Given the description of an element on the screen output the (x, y) to click on. 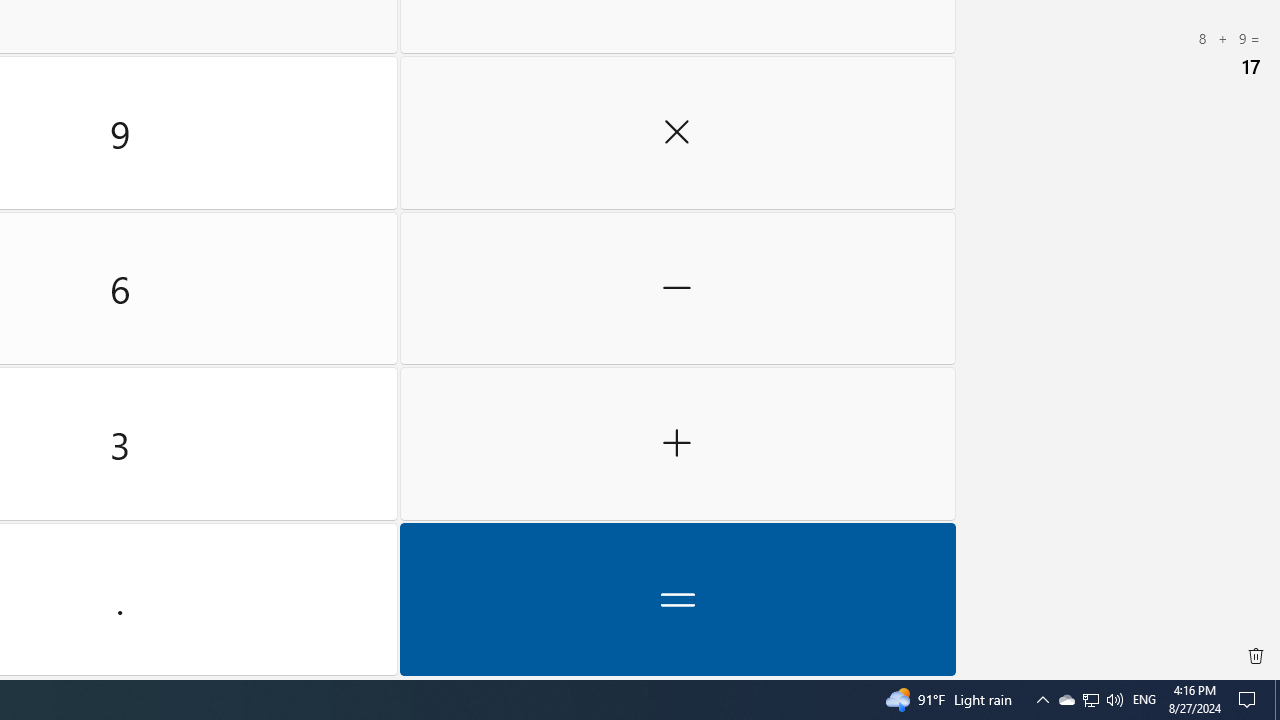
8 + 9= 17 (1119, 53)
Plus (677, 444)
Tray Input Indicator - English (United States) (1144, 699)
Clear all history (1256, 655)
Multiply by (677, 133)
Equals (677, 599)
Minus (677, 288)
